Given the description of an element on the screen output the (x, y) to click on. 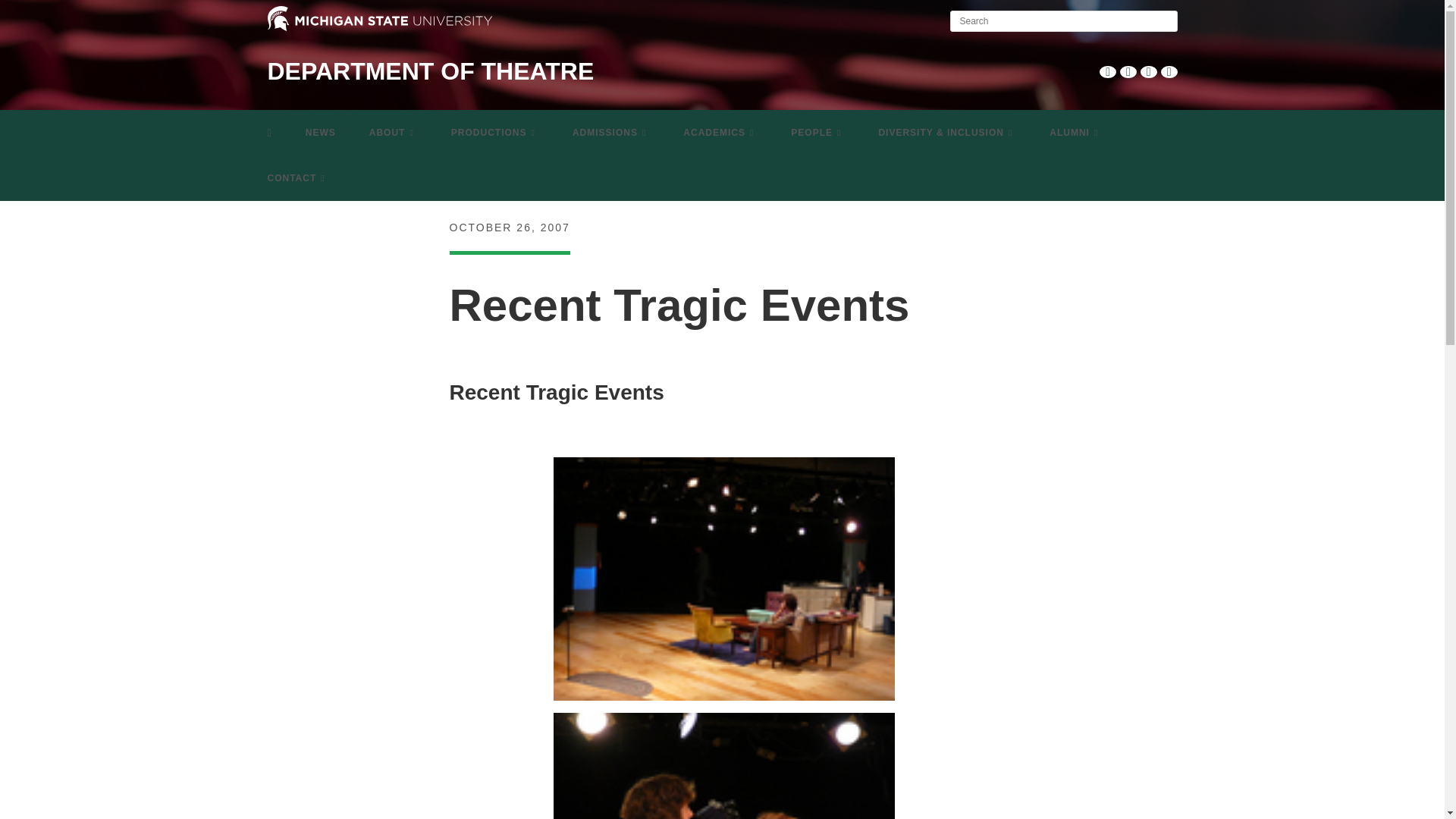
ACADEMICS (720, 132)
ABOUT (392, 132)
ADMISSIONS (611, 132)
Michigan State University (379, 27)
PRODUCTIONS (494, 132)
PEOPLE (817, 132)
Michigan State University (379, 18)
DEPARTMENT OF THEATRE (430, 71)
NEWS (320, 132)
